Given the description of an element on the screen output the (x, y) to click on. 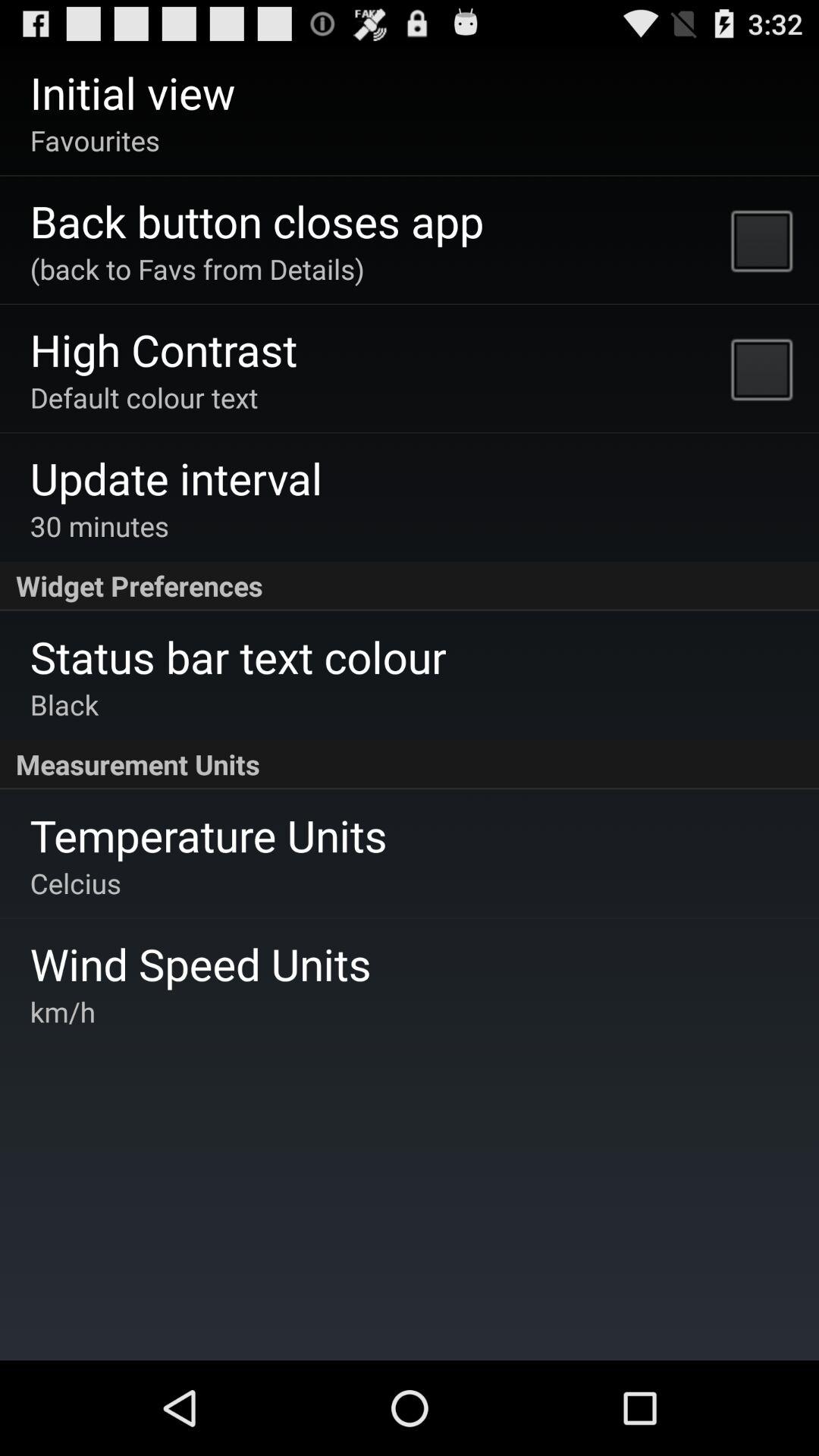
open the item above default colour text item (163, 349)
